Given the description of an element on the screen output the (x, y) to click on. 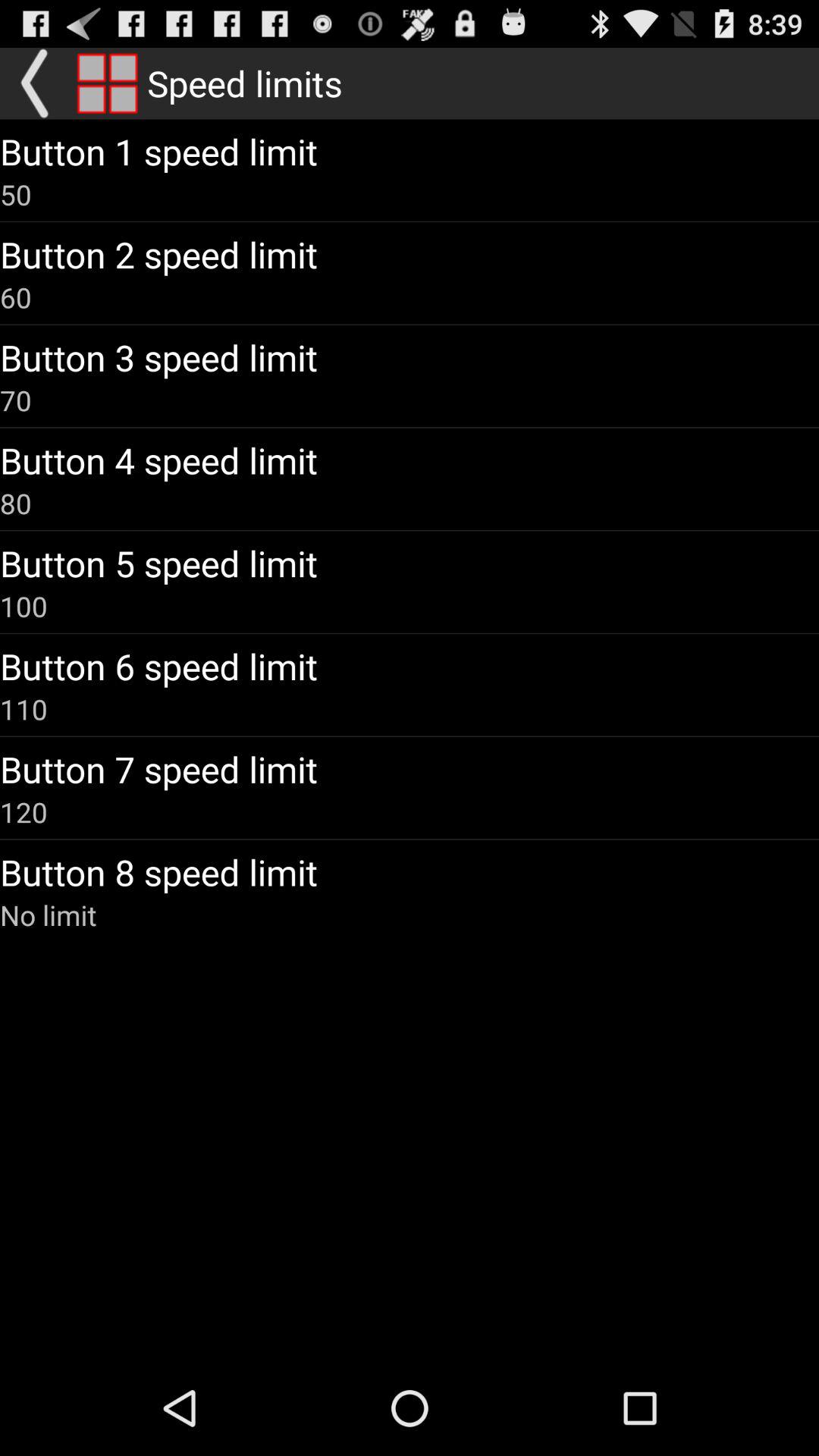
choose the icon above button 5 speed (15, 503)
